Given the description of an element on the screen output the (x, y) to click on. 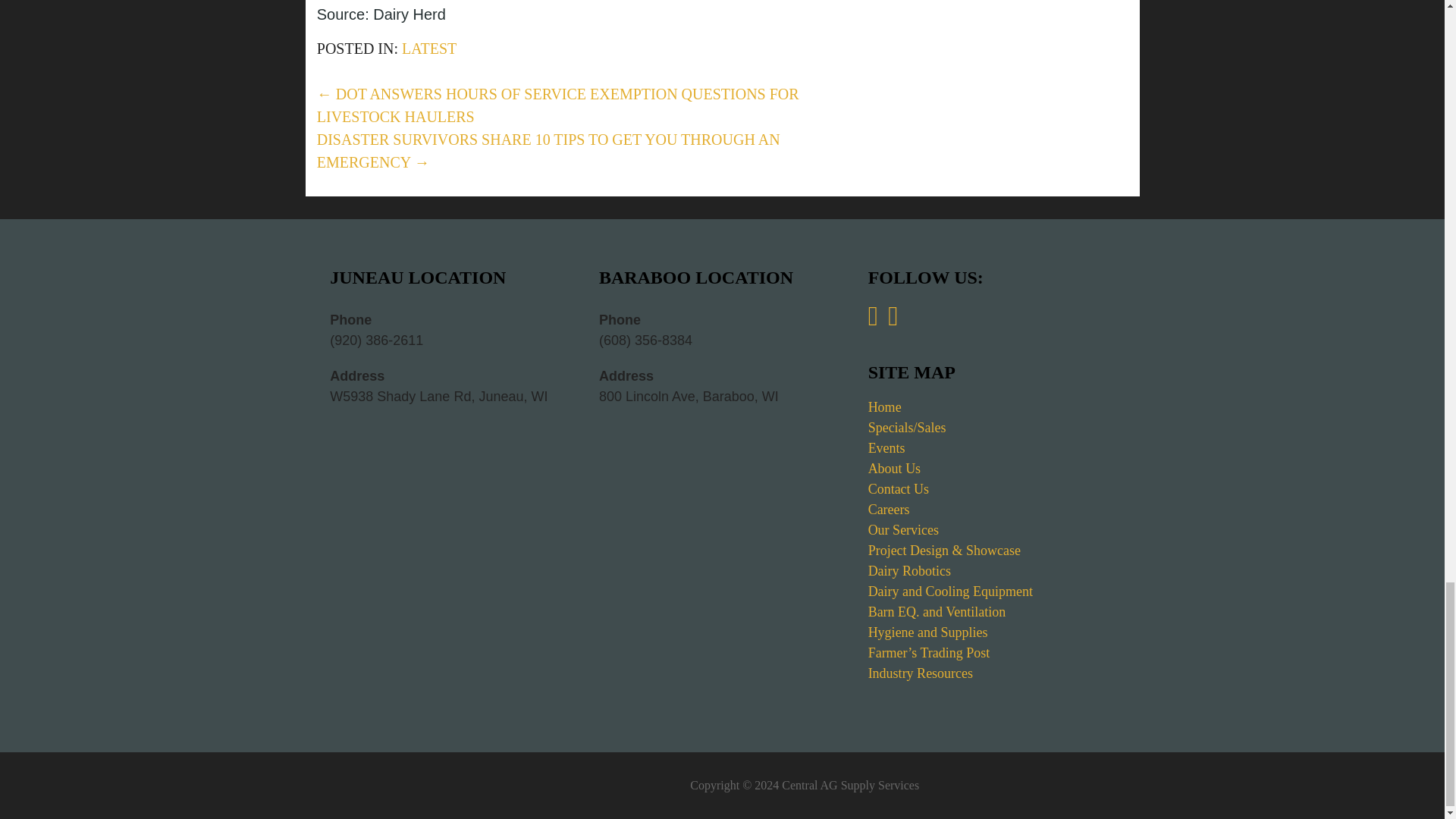
Our Services (903, 529)
Home (884, 406)
Contact Us (898, 488)
Dairy Robotics (909, 570)
Careers (888, 509)
Events (886, 447)
About Us (894, 468)
LATEST (429, 48)
